Given the description of an element on the screen output the (x, y) to click on. 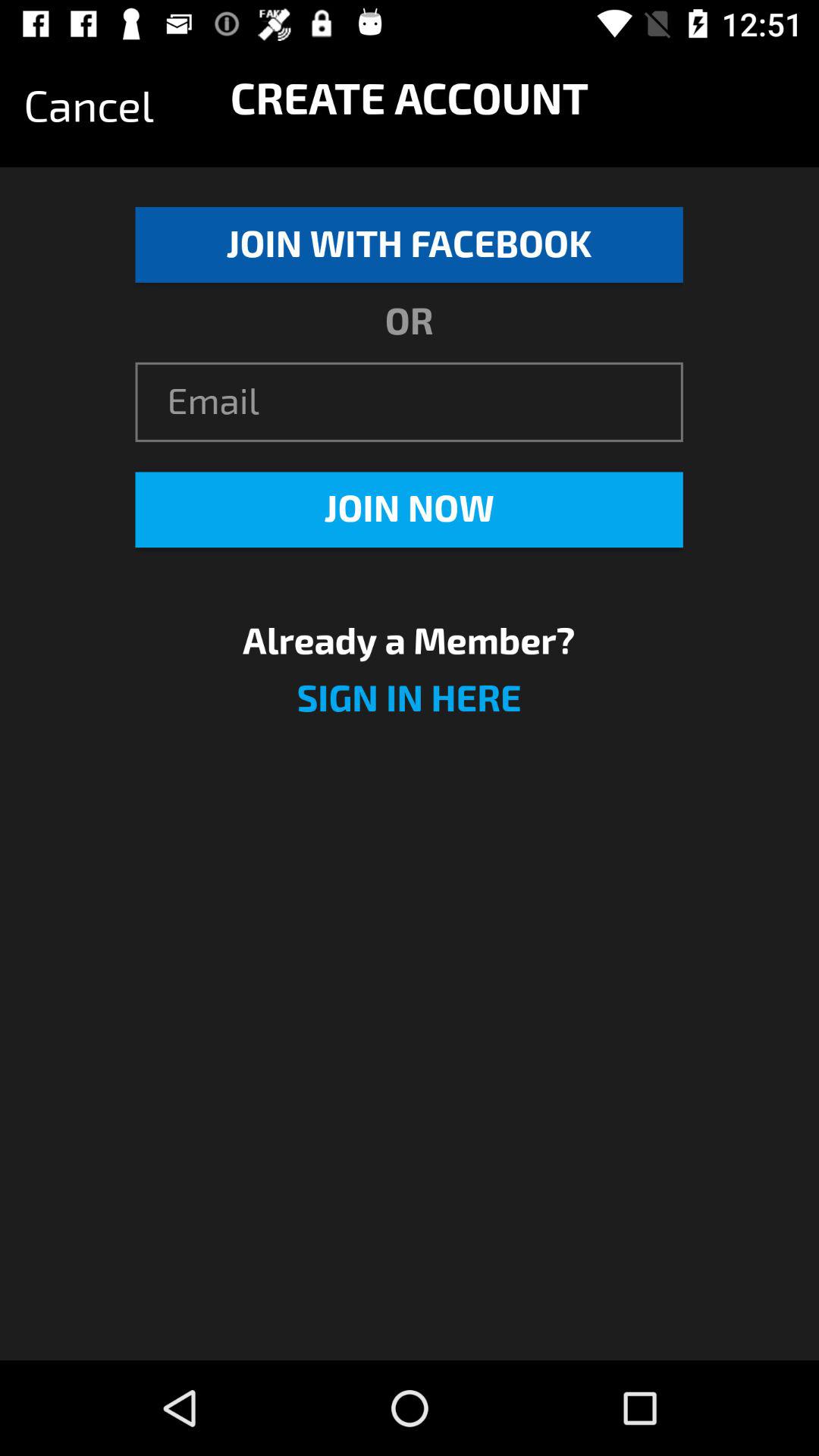
click the item above the join with facebook icon (89, 107)
